Given the description of an element on the screen output the (x, y) to click on. 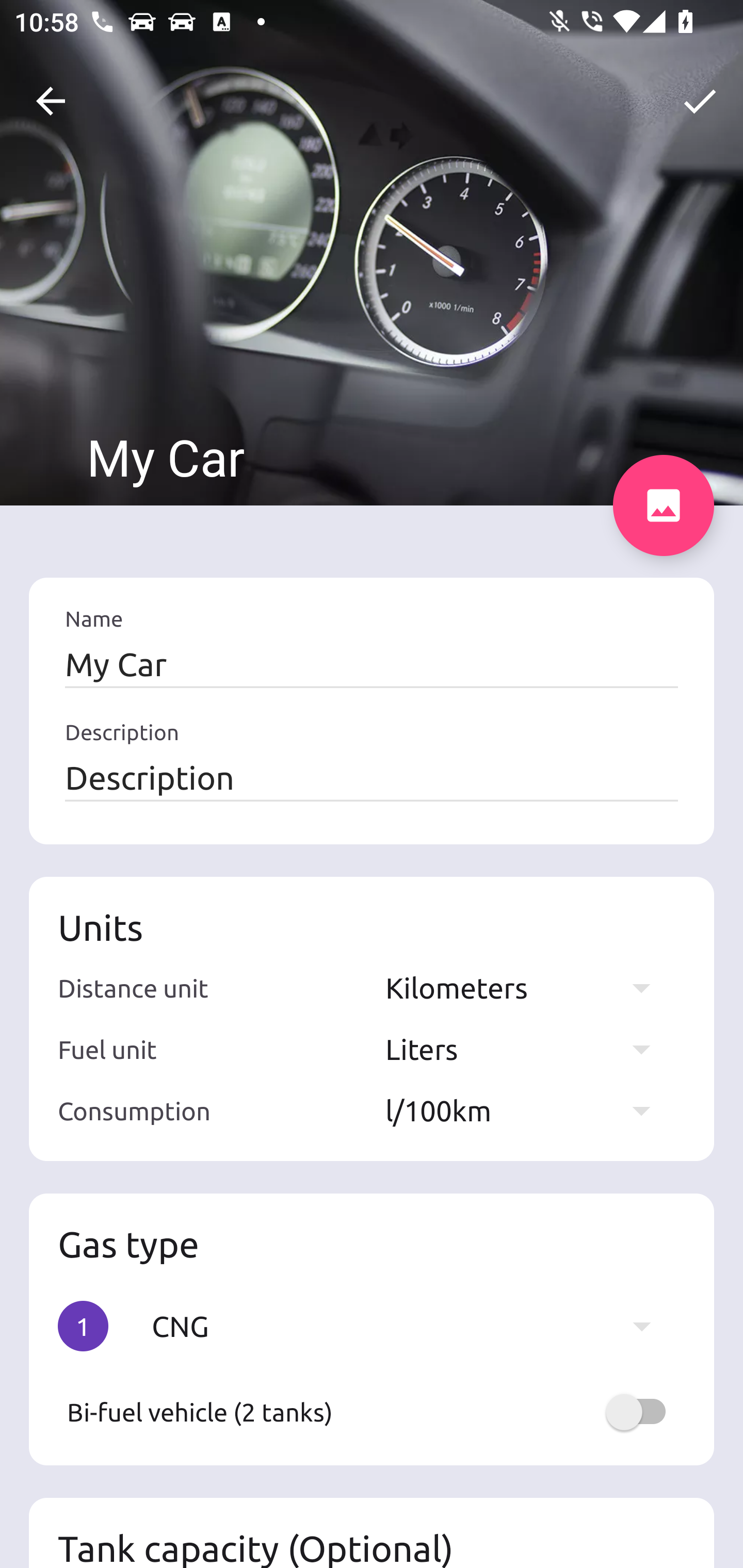
Navigate up (50, 101)
OK (699, 101)
My Car (371, 664)
Description (371, 777)
Kilometers (527, 987)
Liters (527, 1048)
l/100km (527, 1110)
CNG (411, 1325)
Bi-fuel vehicle (2 tanks) (371, 1411)
